Given the description of an element on the screen output the (x, y) to click on. 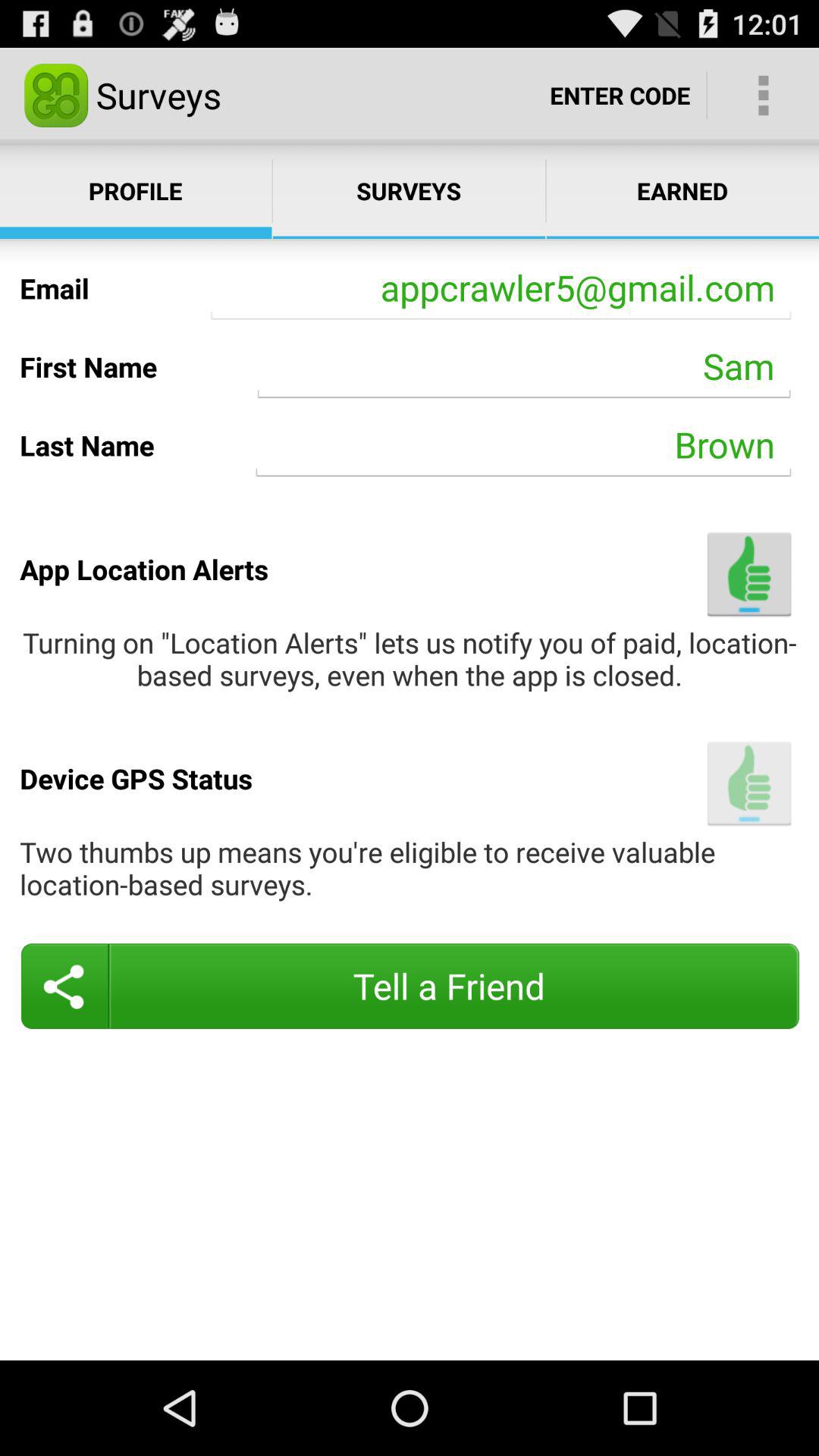
select item above two thumbs up (749, 783)
